Given the description of an element on the screen output the (x, y) to click on. 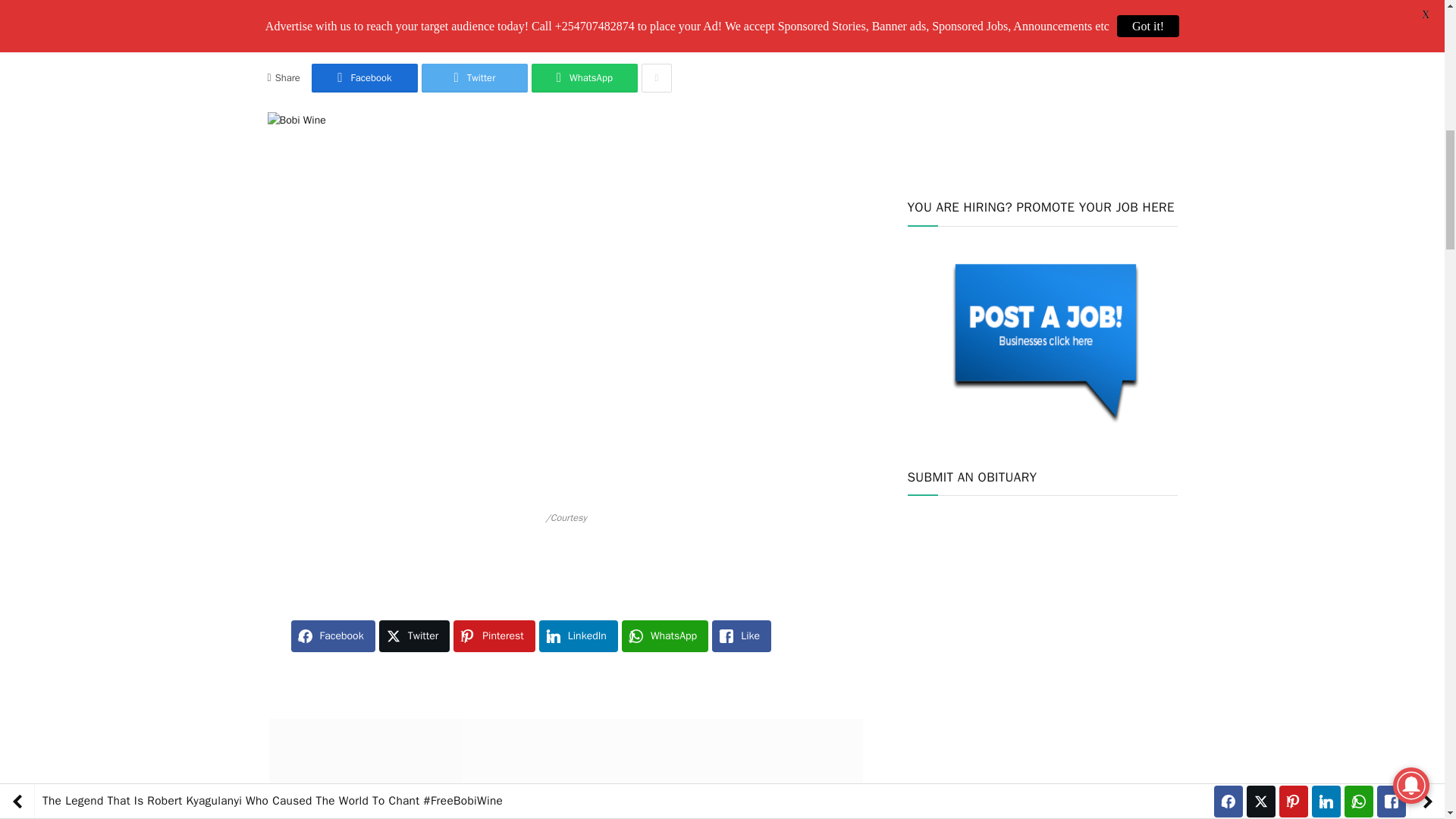
EVA NYAMBURA (347, 35)
Show More Social Sharing (656, 77)
Posts by Eva Nyambura (347, 35)
Twitter (474, 77)
Facebook (364, 77)
Share on WhatsApp (584, 77)
2 COMMENTS (517, 35)
WhatsApp (584, 77)
Share on Facebook (364, 77)
